Given the description of an element on the screen output the (x, y) to click on. 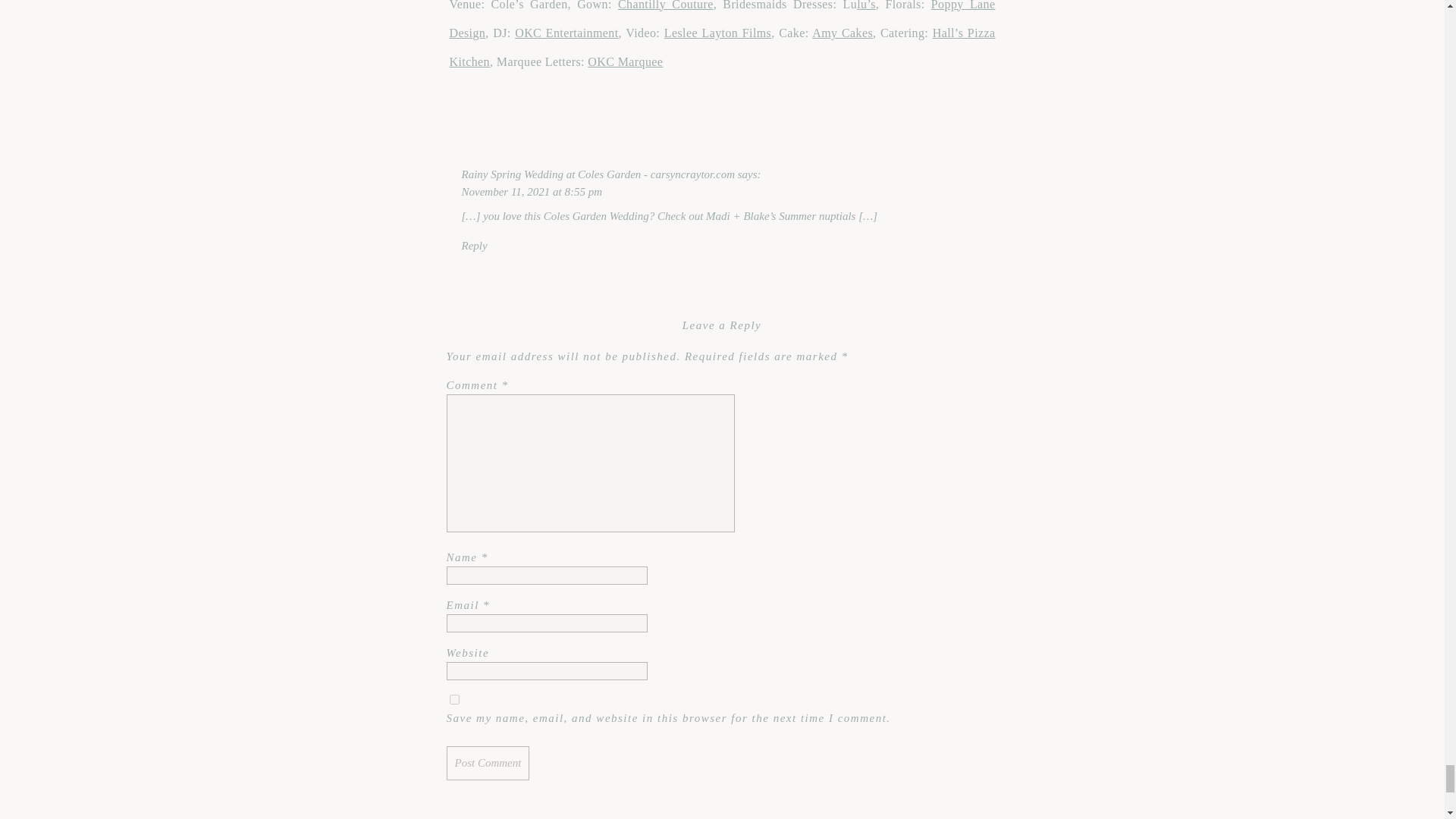
November 11, 2021 at 8:55 pm (531, 191)
Amy Cakes (842, 32)
Chantilly Couture (665, 5)
OKC Marquee (625, 61)
Reply (473, 245)
yes (453, 699)
Leslee Layton Films (717, 32)
Post Comment (487, 763)
Rainy Spring Wedding at Coles Garden - carsyncraytor.com (598, 174)
OKC Entertainment (566, 32)
